Given the description of an element on the screen output the (x, y) to click on. 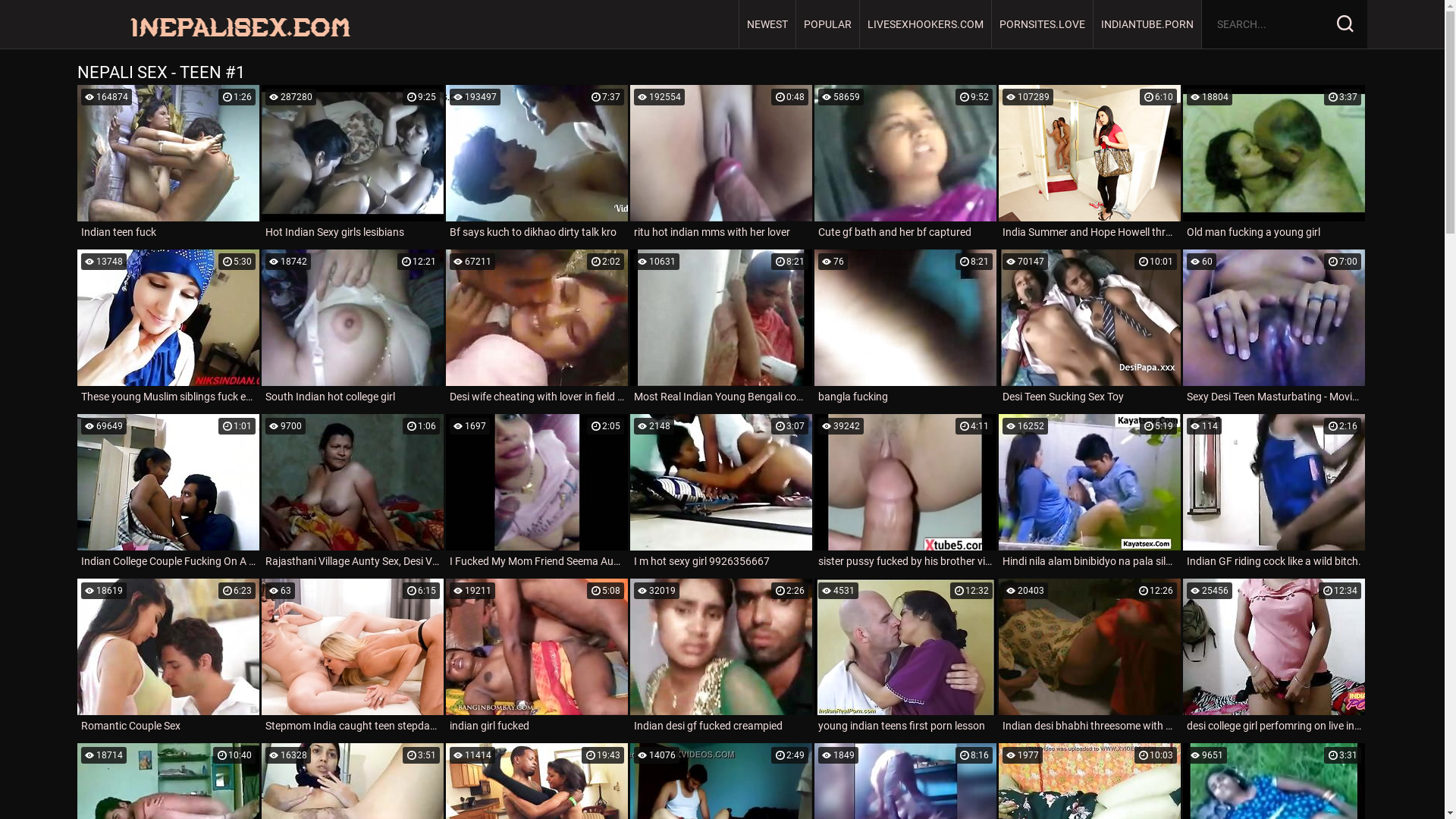
7:37
193497
Bf says kuch to dikhao dirty talk kro Element type: text (536, 163)
10:01
70147
Desi Teen Sucking Sex Toy Element type: text (1089, 328)
2:16
114
Indian GF riding cock like a wild bitch. Element type: text (1274, 493)
7:00
60
Sexy Desi Teen Masturbating - Movies. Element type: text (1274, 328)
POPULAR Element type: text (827, 24)
LIVESEXHOOKERS.COM Element type: text (925, 24)
6:10
107289
India Summer and Hope Howell threesome Element type: text (1089, 163)
3:07
2148
I m hot sexy girl 9926356667 Element type: text (721, 493)
1:26
164874
Indian teen fuck Element type: text (168, 163)
9:25
287280
Hot Indian Sexy girls lesibians Element type: text (352, 163)
1:01
69649
Indian College Couple Fucking On A WebCam Element type: text (168, 493)
2:26
32019
Indian desi gf fucked creampied Element type: text (721, 657)
8:21
76
bangla fucking Element type: text (905, 328)
12:21
18742
South Indian hot college girl Element type: text (352, 328)
INDIANTUBE.PORN Element type: text (1147, 24)
PORNSITES.LOVE Element type: text (1042, 24)
3:37
18804
Old man fucking a young girl Element type: text (1274, 163)
NEWEST Element type: text (767, 24)
12:32
4531
young indian teens first porn lesson Element type: text (905, 657)
6:23
18619
Romantic Couple Sex Element type: text (168, 657)
5:08
19211
indian girl fucked Element type: text (536, 657)
2:05
1697
I Fucked My Mom Friend Seema Aunty Element type: text (536, 493)
9:52
58659
Cute gf bath and her bf captured Element type: text (905, 163)
5:19
16252
Hindi nila alam binibidyo na pala sila (new) Element type: text (1089, 493)
0:48
192554
ritu hot indian mms with her lover Element type: text (721, 163)
